Given the description of an element on the screen output the (x, y) to click on. 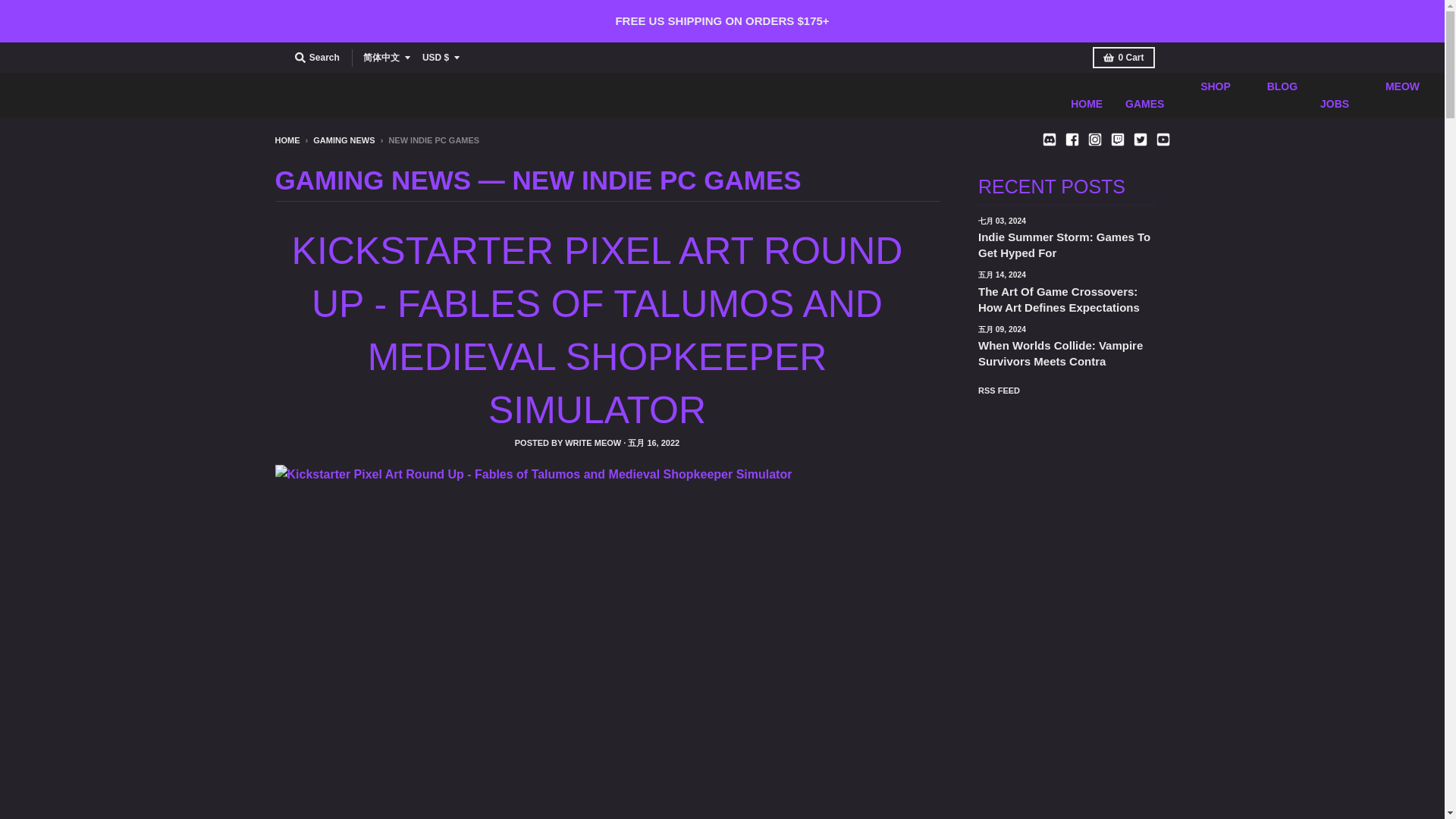
Search (316, 56)
SHOP (1208, 94)
0 Cart (1123, 56)
HOME (1086, 103)
Back to the frontpage (287, 139)
BLOG (1275, 94)
GAMES (1144, 103)
